Given the description of an element on the screen output the (x, y) to click on. 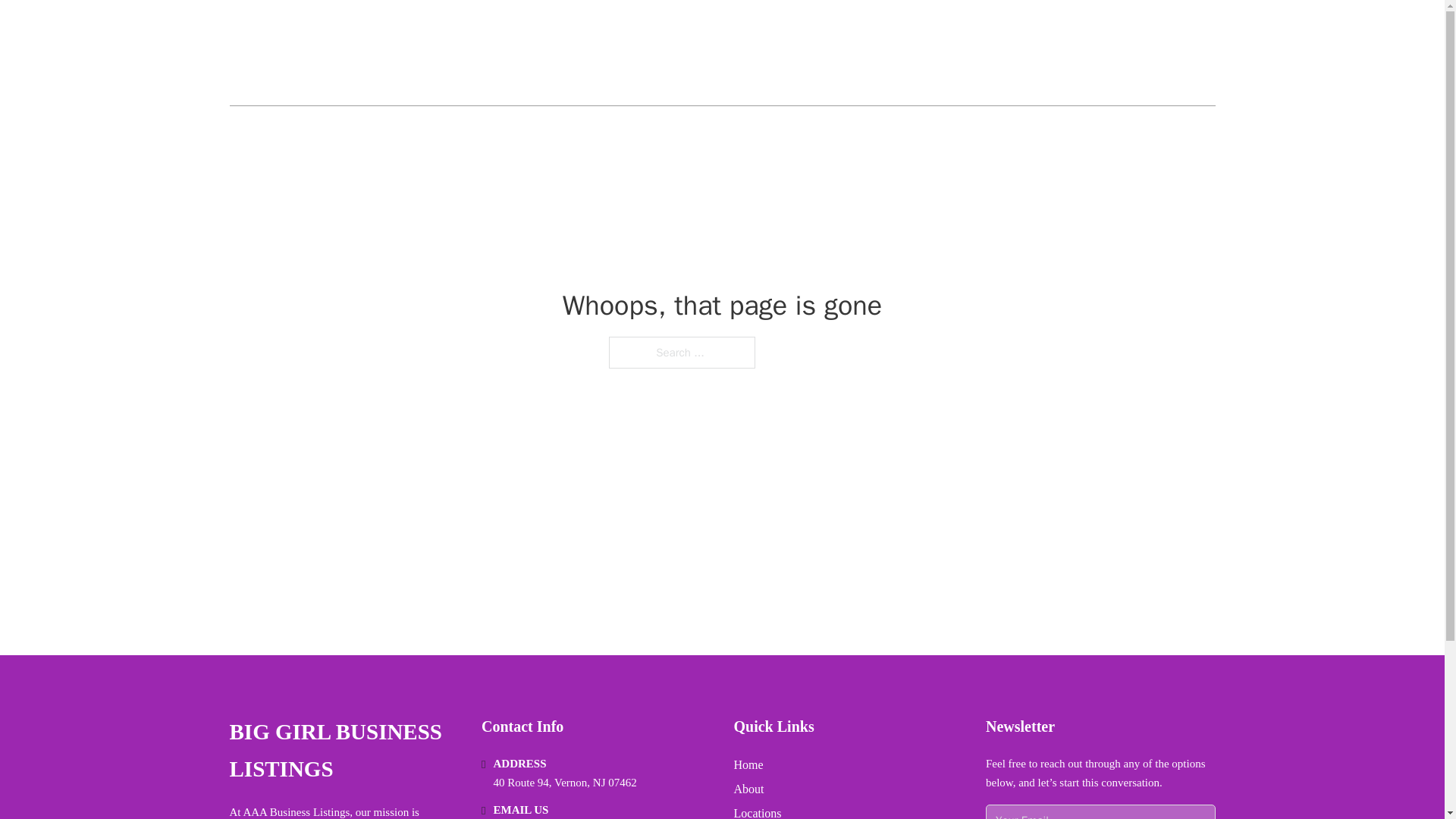
About (748, 788)
BIG GIRL BUSINESS LISTINGS (400, 52)
HOME (1032, 53)
BIG GIRL BUSINESS LISTINGS (343, 750)
LOCATIONS (1105, 53)
Locations (757, 811)
Home (747, 764)
